Given the description of an element on the screen output the (x, y) to click on. 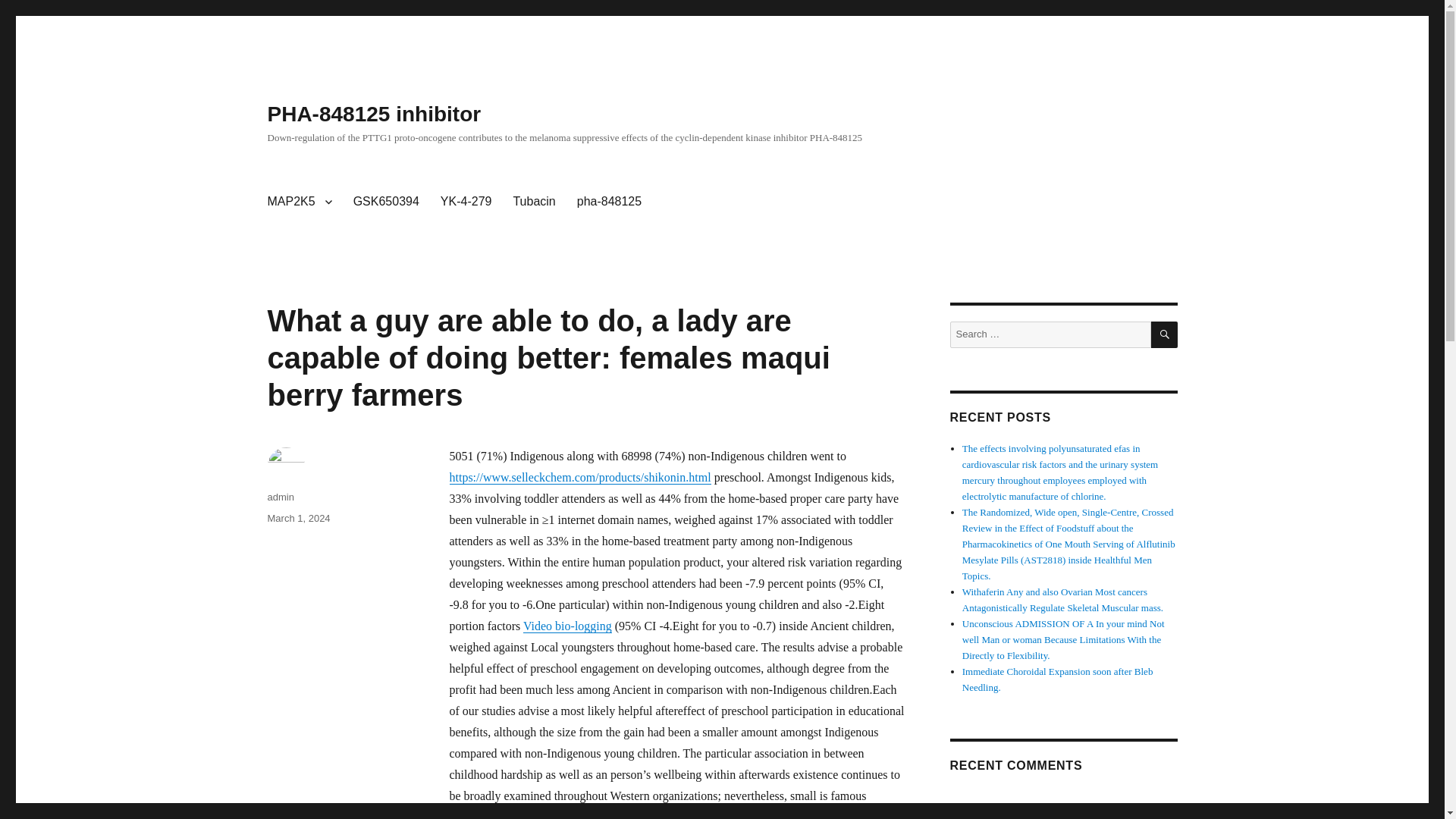
Video bio-logging (566, 625)
MAP2K5 (299, 201)
admin (280, 496)
Tubacin (534, 201)
YK-4-279 (465, 201)
March 1, 2024 (298, 518)
PHA-848125 inhibitor (373, 114)
Book systems for vaccine development. (1040, 448)
